Given the description of an element on the screen output the (x, y) to click on. 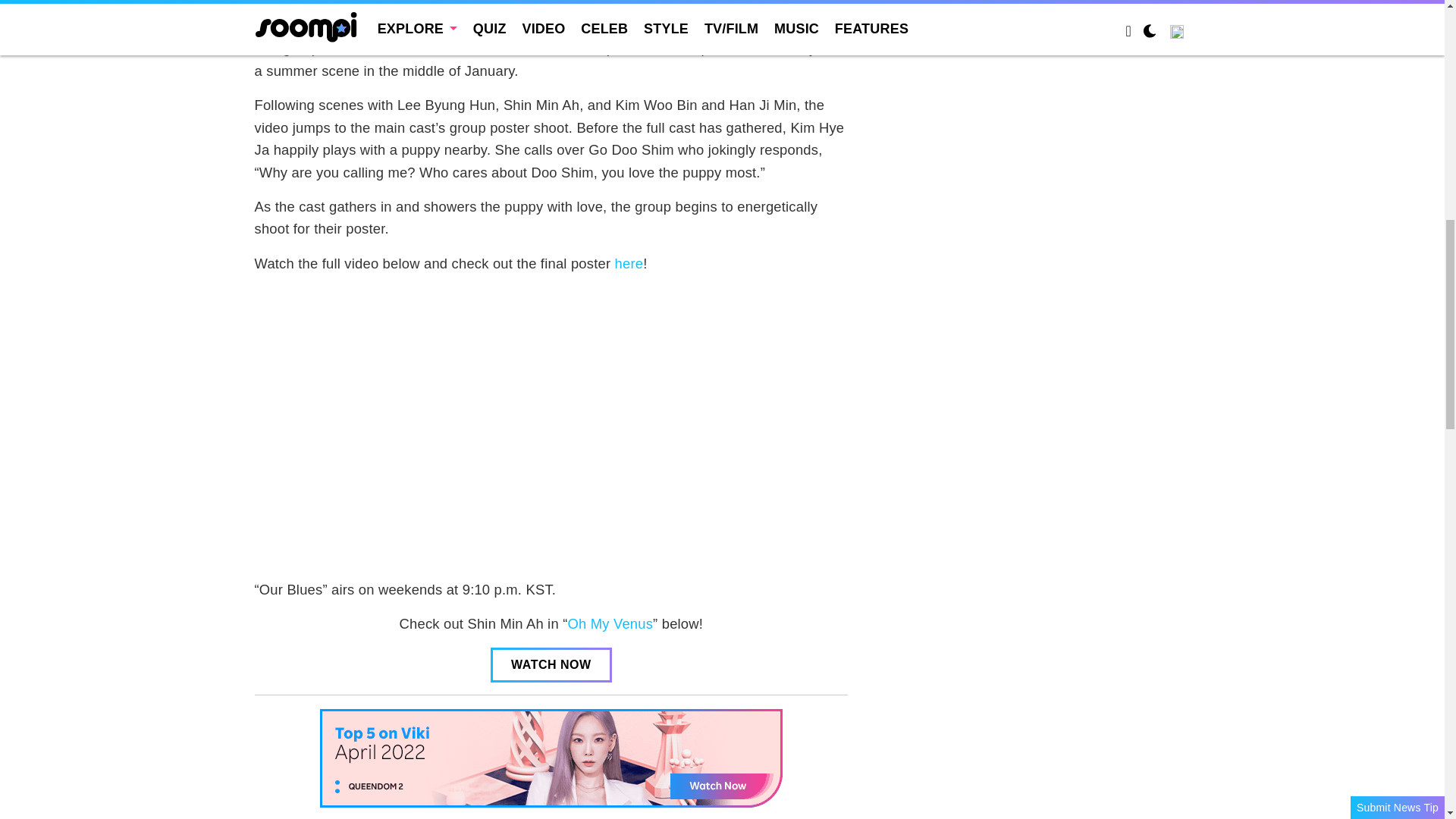
here (628, 263)
Oh My Venus (609, 623)
